Given the description of an element on the screen output the (x, y) to click on. 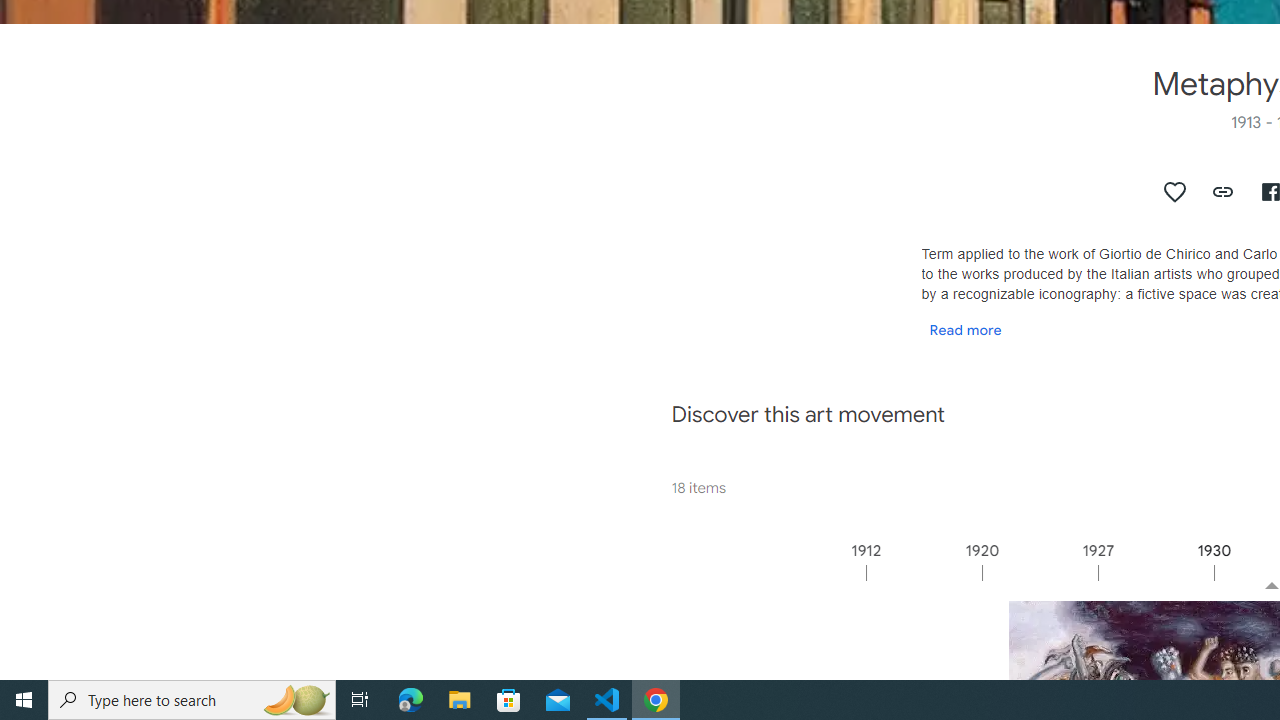
Authenticate to favorite this asset. (1175, 191)
Copy Link (1223, 191)
1912 (923, 572)
1920 (1039, 572)
1927 (1154, 572)
Read more (965, 329)
